Given the description of an element on the screen output the (x, y) to click on. 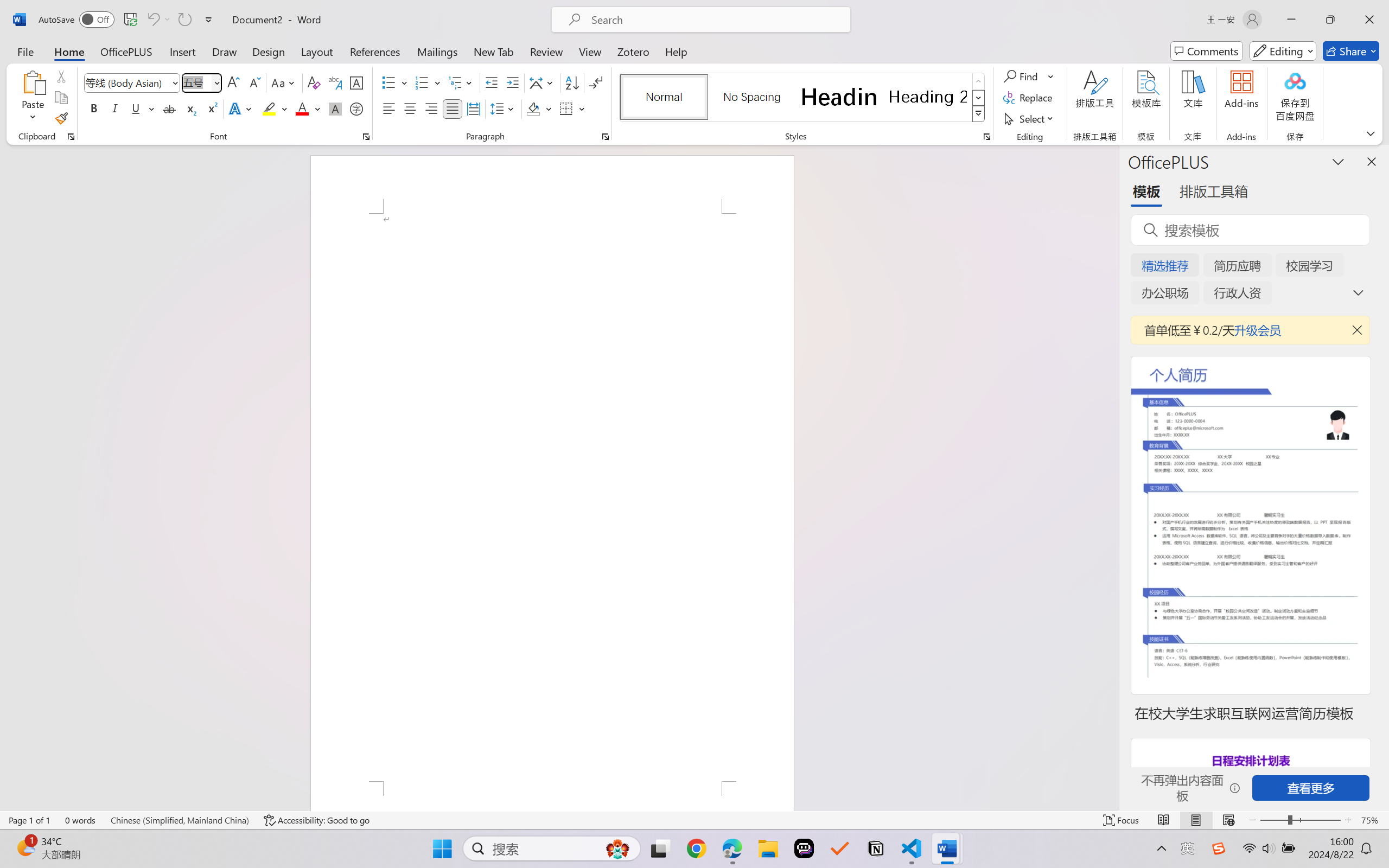
Font (132, 82)
Draw (224, 51)
Increase Indent (512, 82)
Asian Layout (542, 82)
Shading RGB(0, 0, 0) (533, 108)
Mailings (437, 51)
Enclose Characters... (356, 108)
Focus  (1121, 819)
Font Color Red (302, 108)
Customize Quick Access Toolbar (208, 19)
Insert (182, 51)
Decrease Indent (491, 82)
